Given the description of an element on the screen output the (x, y) to click on. 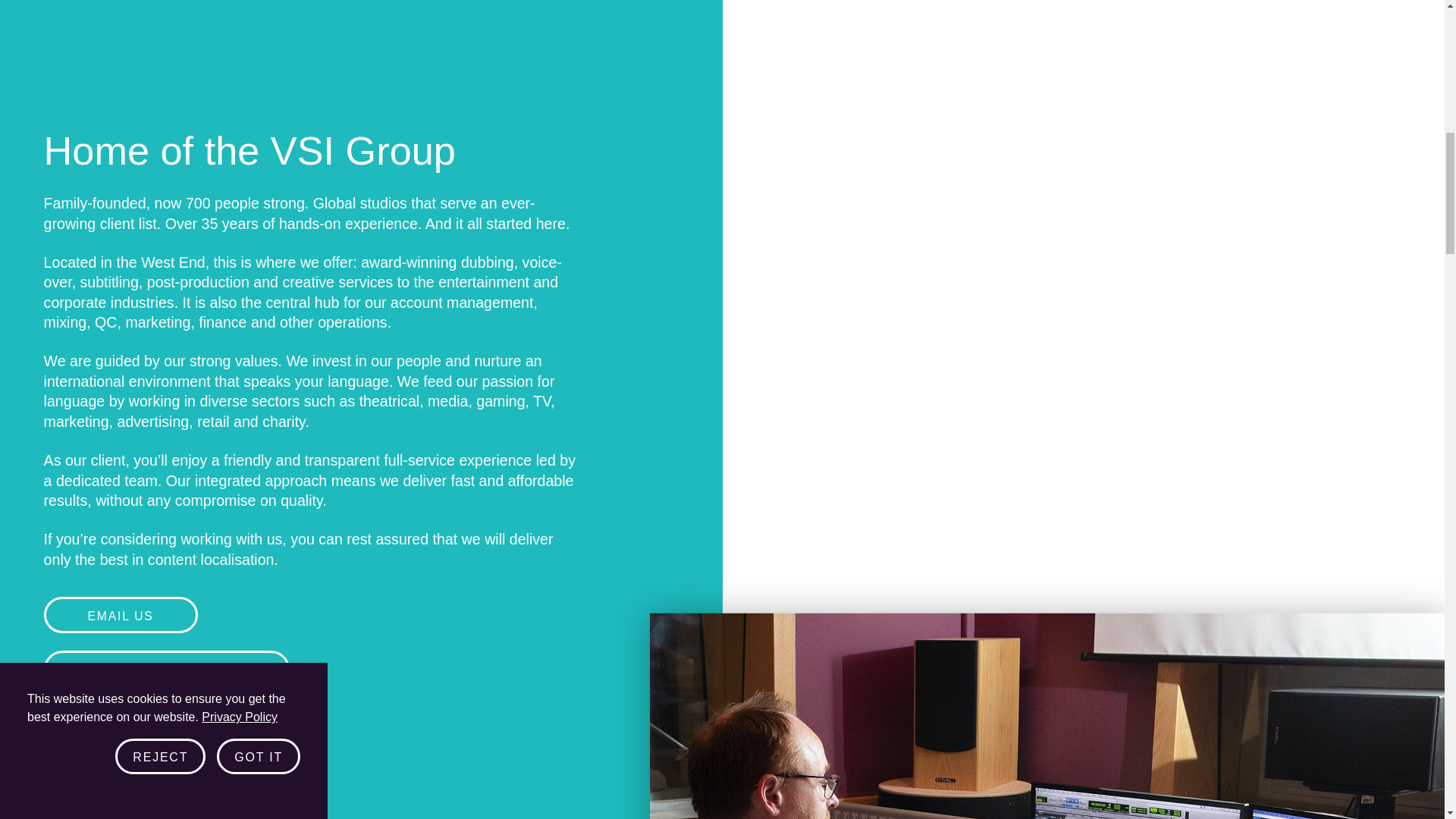
REJECT (160, 16)
GOT IT (257, 23)
EMAIL US (120, 615)
